Given the description of an element on the screen output the (x, y) to click on. 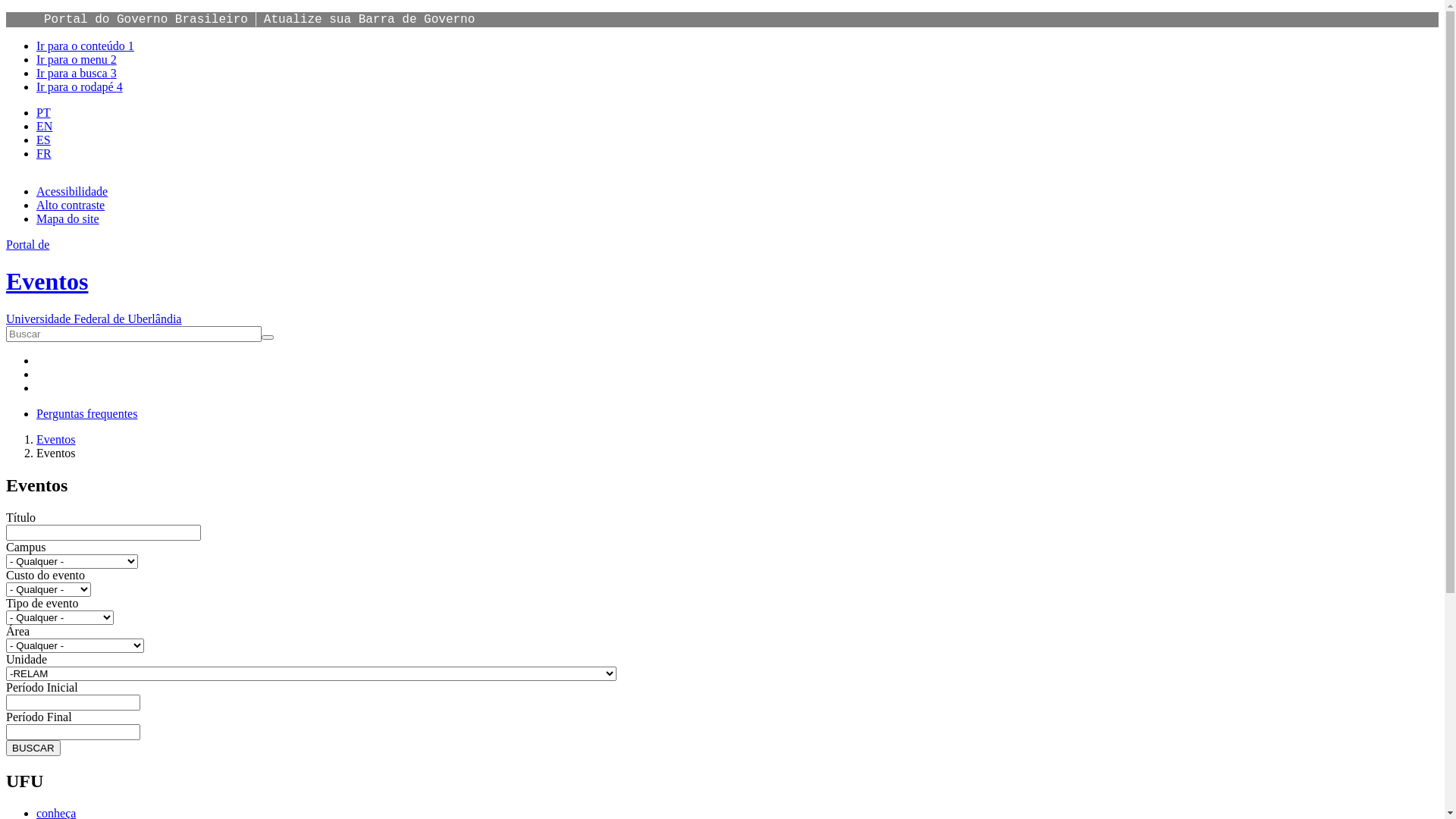
BUSCAR Element type: text (33, 748)
Eventos Element type: text (55, 439)
EN Element type: text (44, 125)
PT Element type: text (43, 112)
Alto contraste Element type: text (70, 204)
 Ex: 25/11/2023 Element type: hover (73, 702)
Atualize sua Barra de Governo Element type: text (368, 19)
Ir para o menu 2 Element type: text (76, 59)
ES Element type: text (43, 139)
Ir para a busca 3 Element type: text (76, 72)
Perguntas frequentes Element type: text (86, 413)
 Ex: 25/11/2023 Element type: hover (73, 732)
Acessibilidade Element type: text (71, 191)
Portal do Governo Brasileiro Element type: text (145, 19)
FR Element type: text (43, 153)
Mapa do site Element type: text (67, 218)
Buscar Element type: text (27, 344)
